Given the description of an element on the screen output the (x, y) to click on. 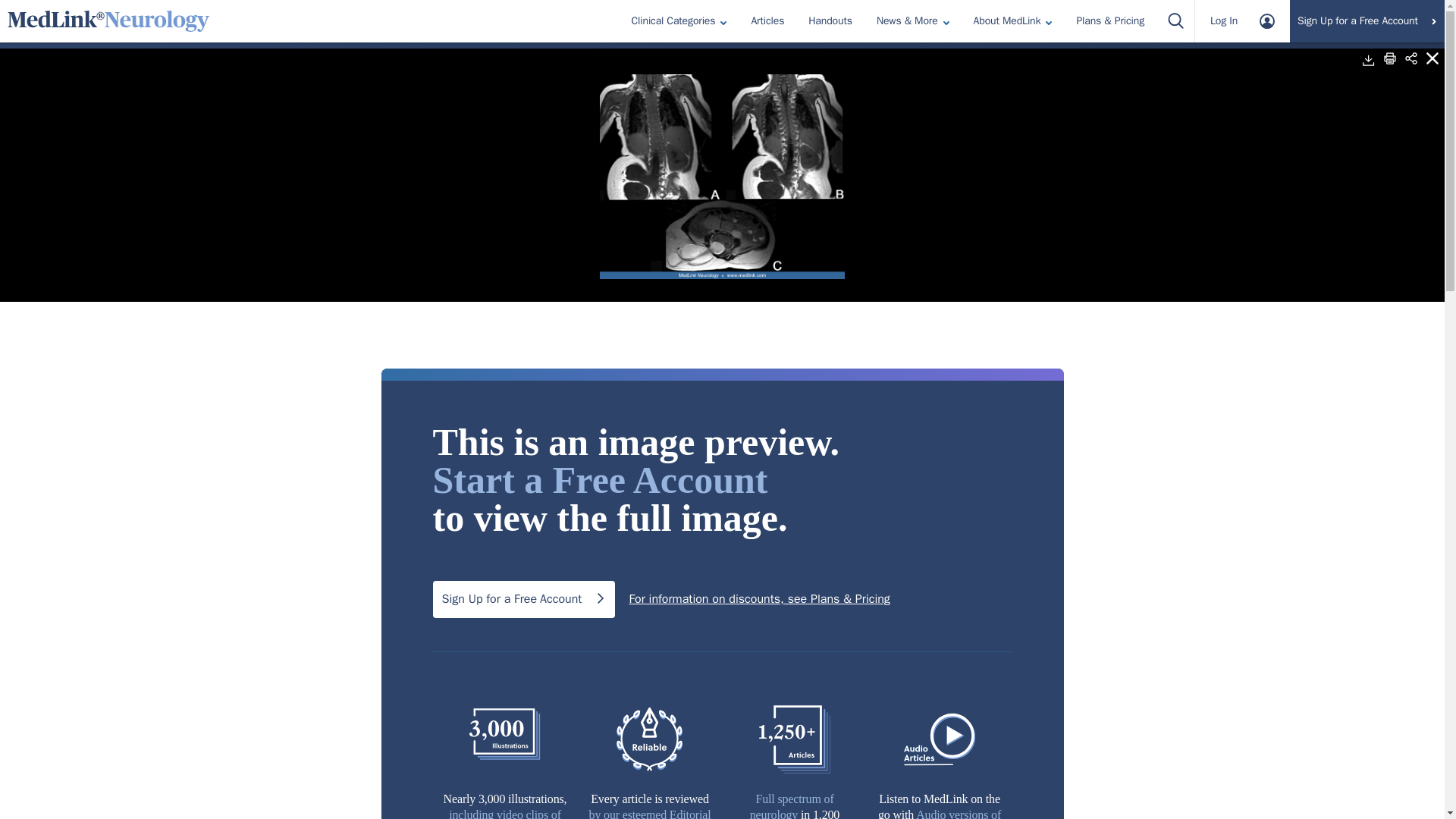
Clinical Categories (678, 20)
